Given the description of an element on the screen output the (x, y) to click on. 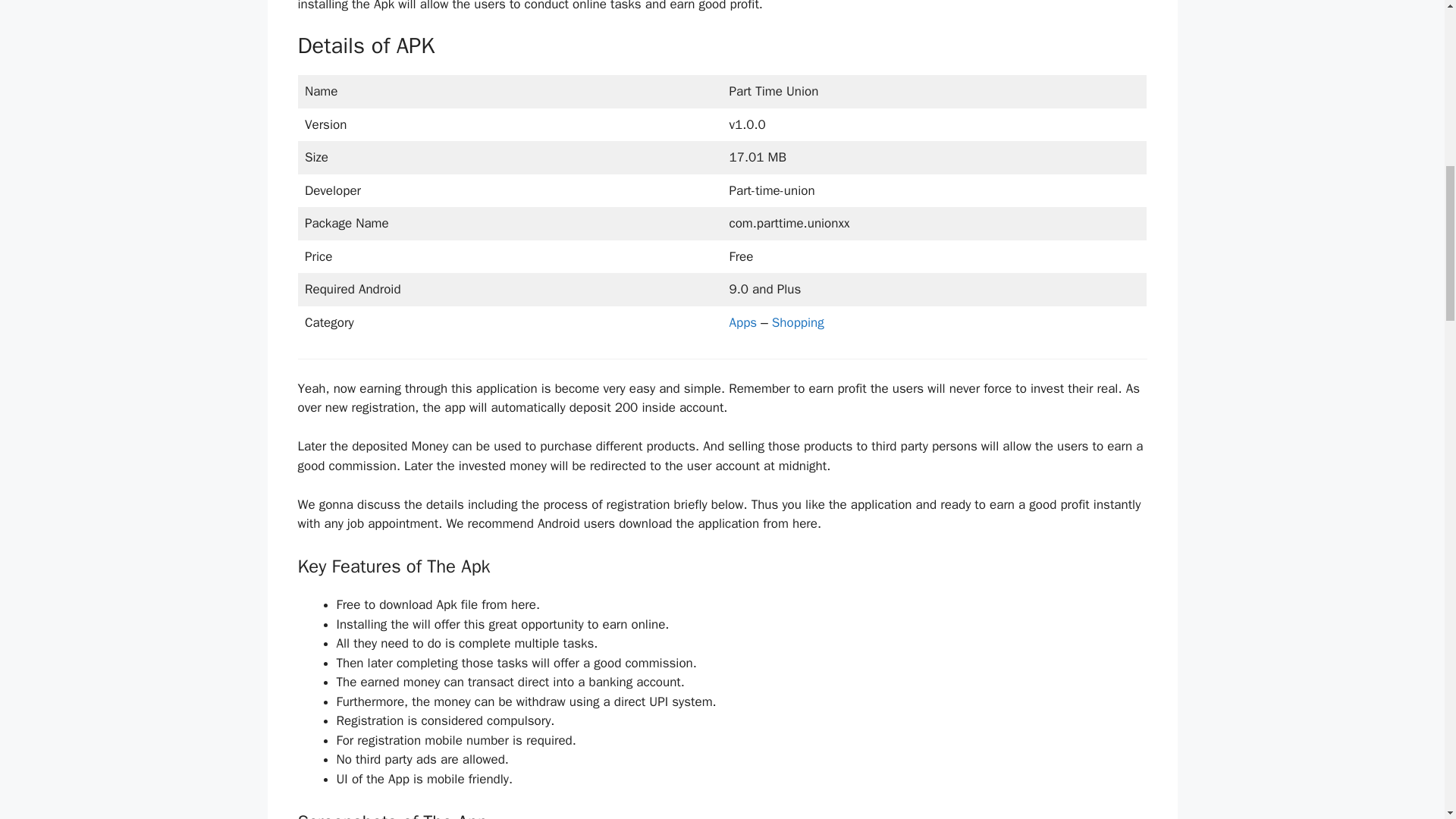
Apps (745, 322)
Shopping (797, 322)
